Given the description of an element on the screen output the (x, y) to click on. 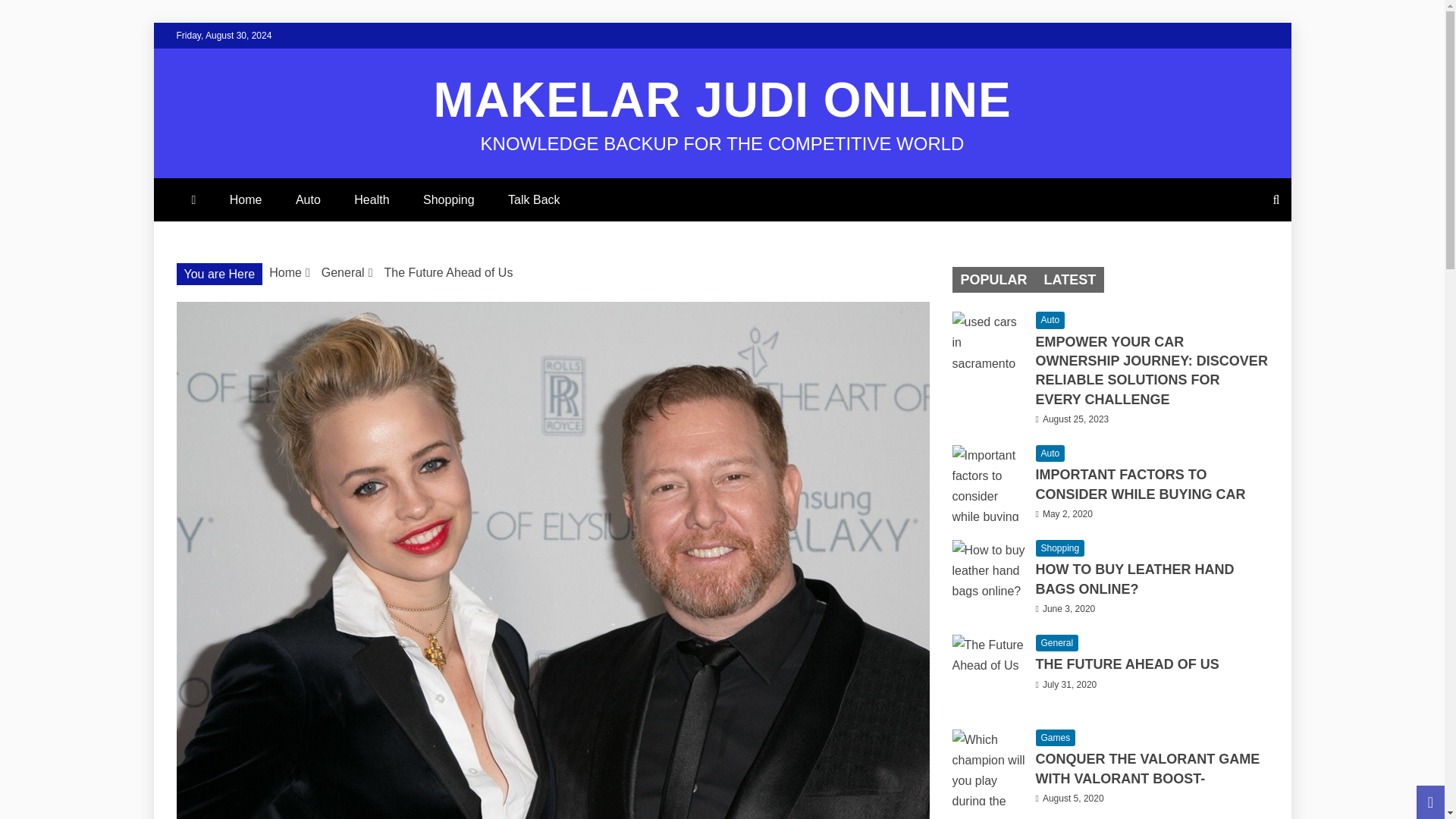
POPULAR (992, 279)
Auto (1050, 320)
Home (246, 199)
Auto (308, 199)
Health (371, 199)
LATEST (1069, 279)
Talk Back (534, 199)
Home (285, 272)
